Given the description of an element on the screen output the (x, y) to click on. 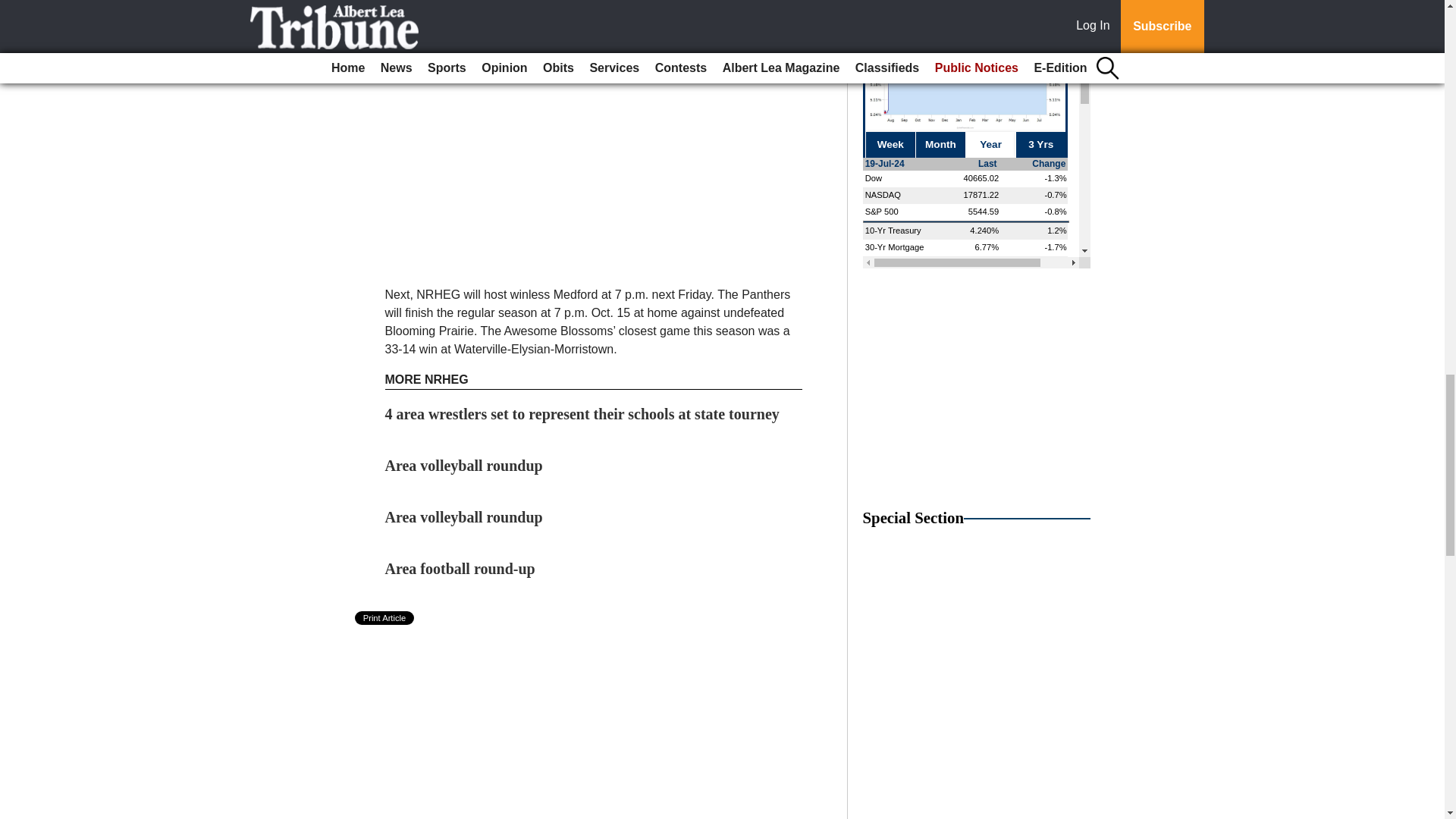
Area football round-up (460, 568)
Area volleyball roundup (464, 465)
Area volleyball roundup (464, 516)
